Given the description of an element on the screen output the (x, y) to click on. 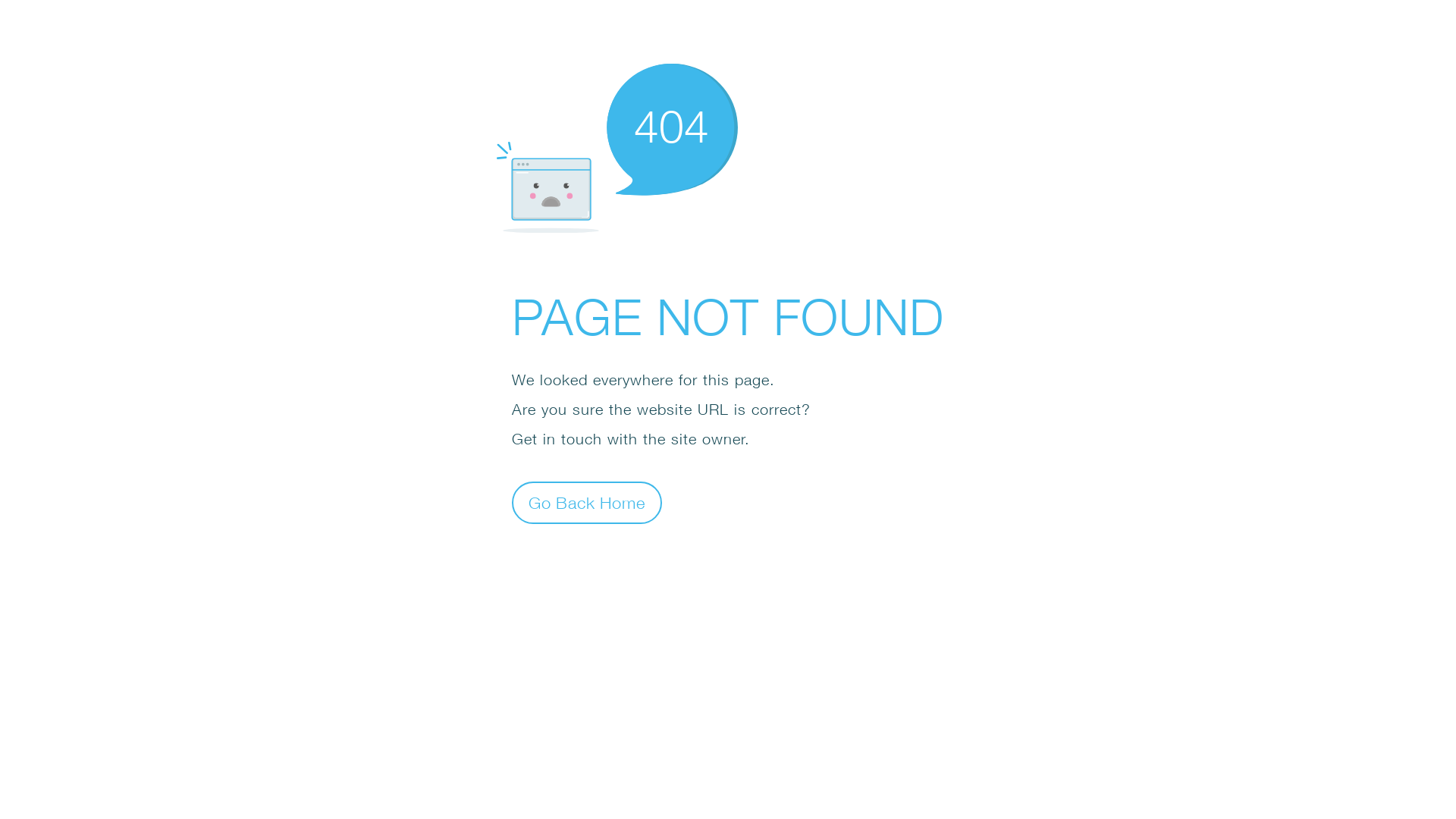
Go Back Home Element type: text (586, 502)
